Given the description of an element on the screen output the (x, y) to click on. 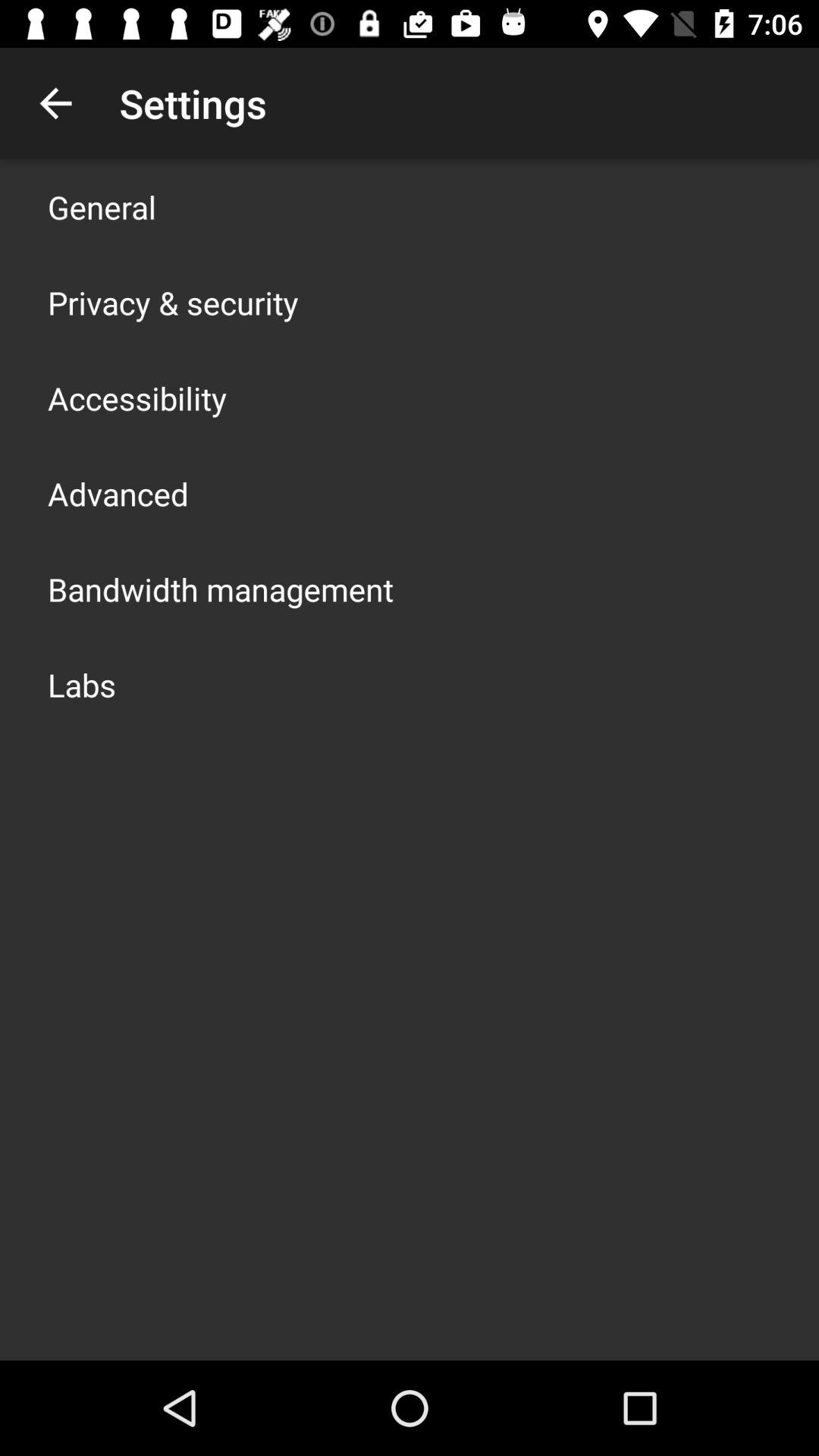
choose advanced app (117, 493)
